Given the description of an element on the screen output the (x, y) to click on. 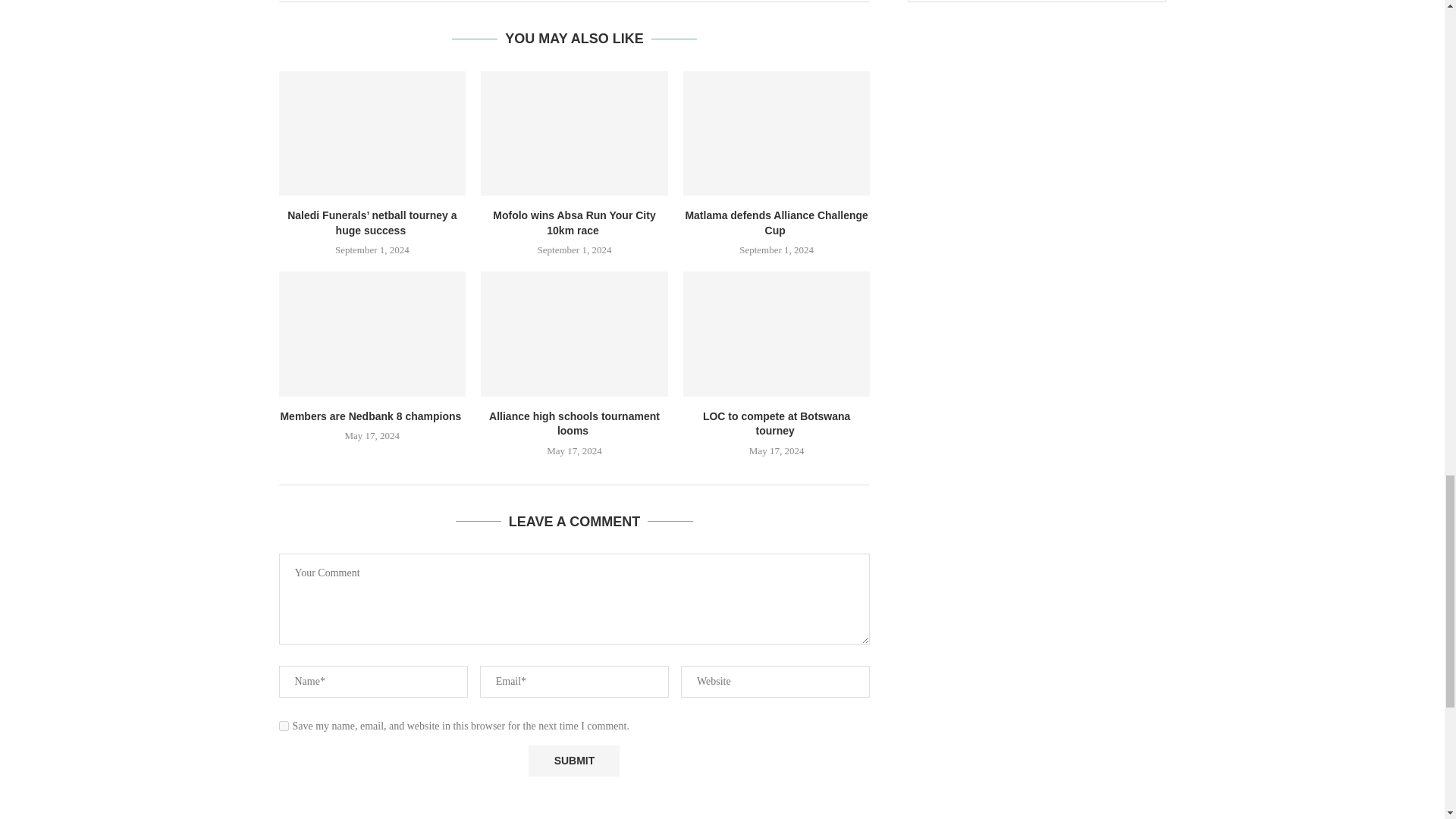
yes (283, 726)
Submit (574, 760)
